Given the description of an element on the screen output the (x, y) to click on. 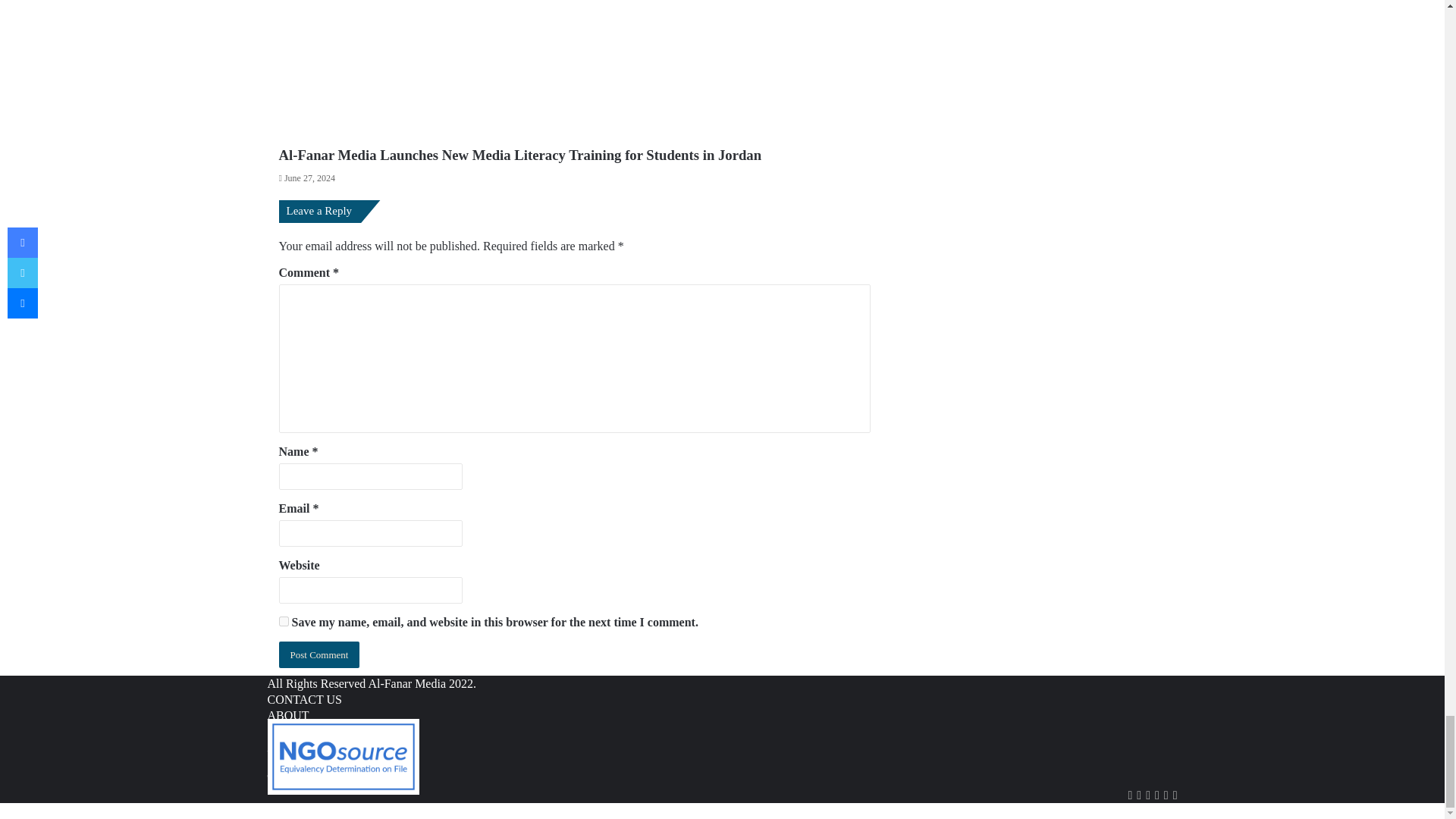
Post Comment (319, 654)
yes (283, 621)
